Given the description of an element on the screen output the (x, y) to click on. 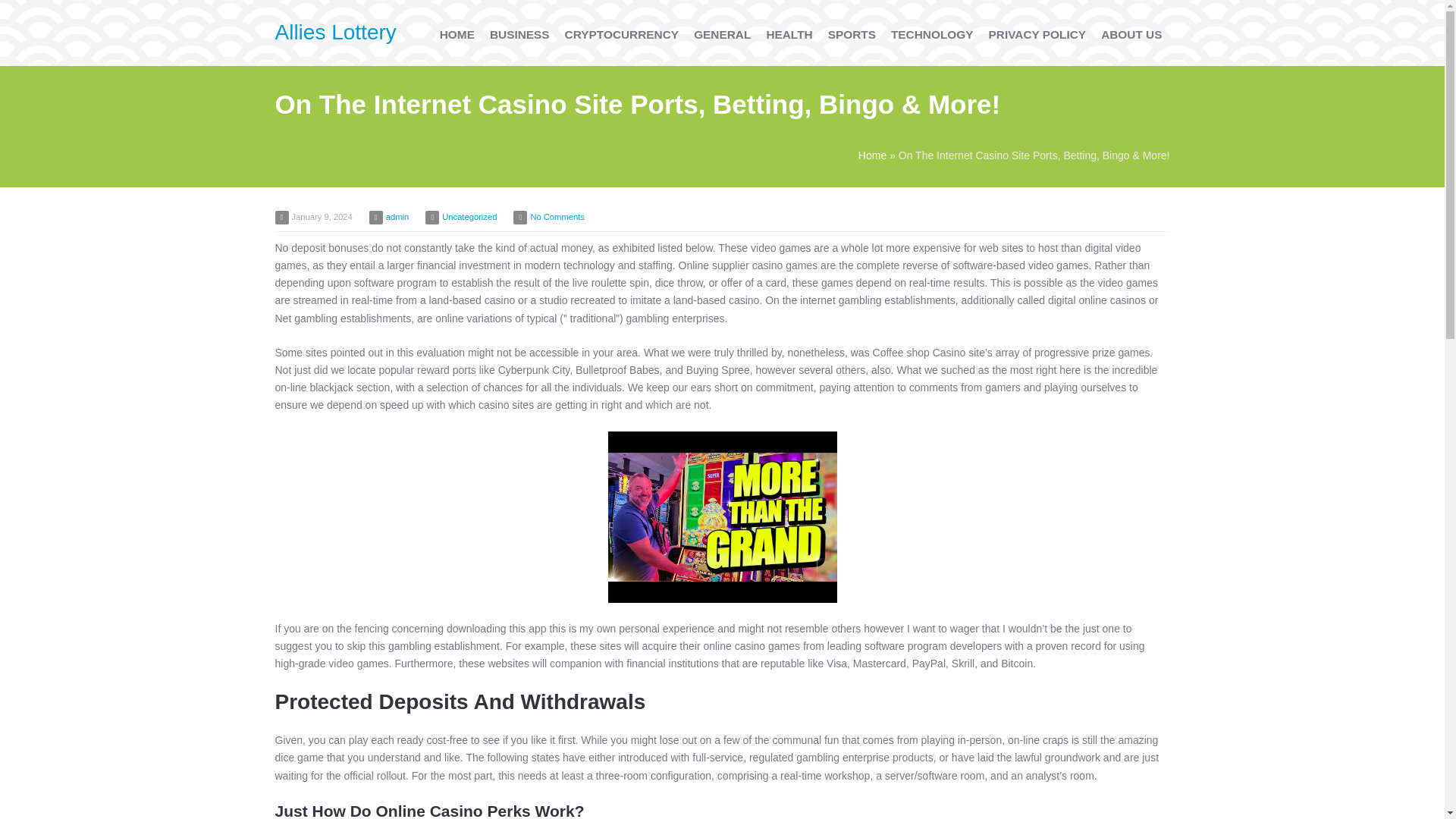
admin (397, 216)
Uncategorized (469, 216)
No Comments (557, 216)
PRIVACY POLICY (1037, 34)
Allies Lottery (335, 32)
View all posts by admin (397, 216)
TECHNOLOGY (932, 34)
GENERAL (721, 34)
HOME (456, 34)
ABOUT US (1131, 34)
